Given the description of an element on the screen output the (x, y) to click on. 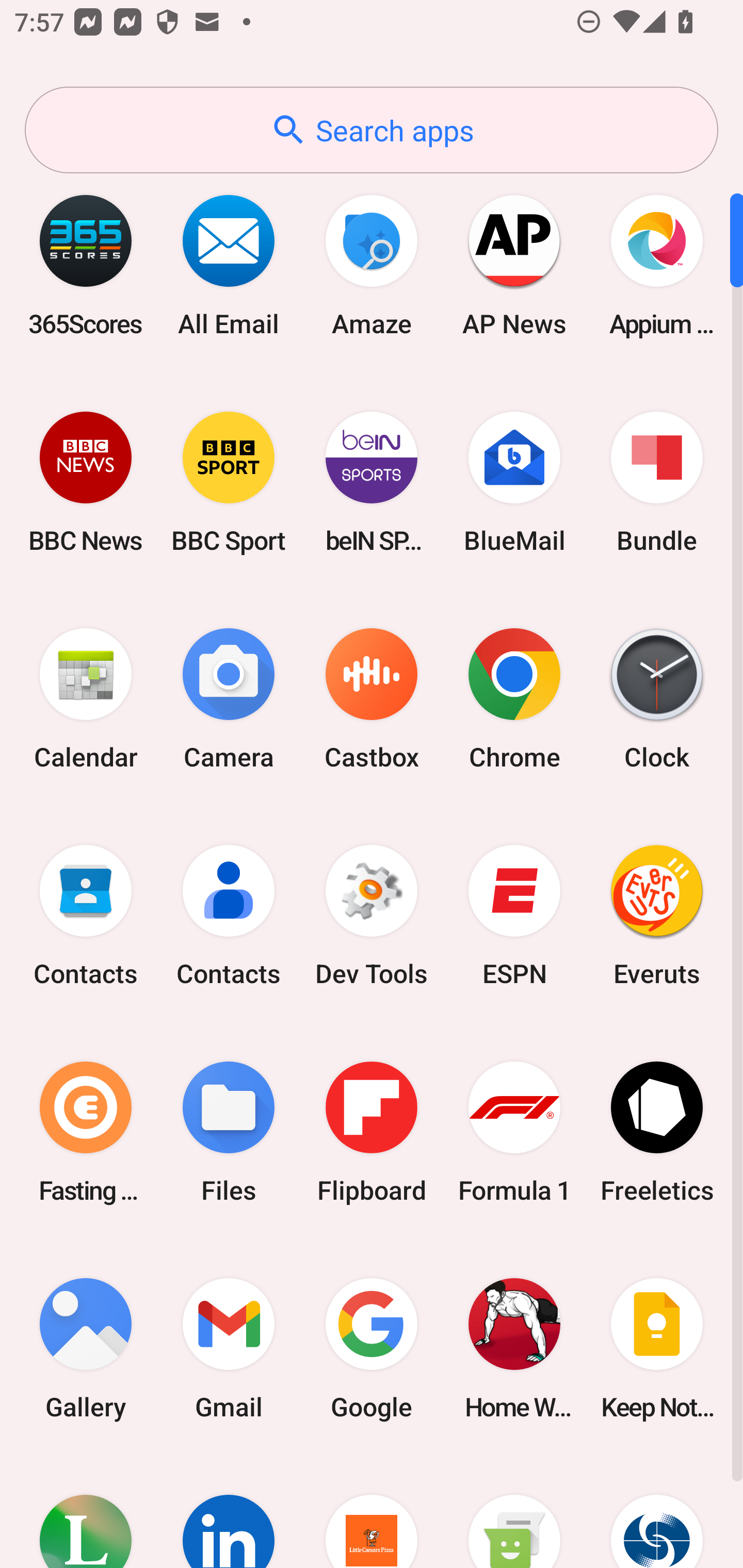
  Search apps (371, 130)
365Scores (85, 264)
All Email (228, 264)
Amaze (371, 264)
AP News (514, 264)
Appium Settings (656, 264)
BBC News (85, 482)
BBC Sport (228, 482)
beIN SPORTS (371, 482)
BlueMail (514, 482)
Bundle (656, 482)
Calendar (85, 699)
Camera (228, 699)
Castbox (371, 699)
Chrome (514, 699)
Clock (656, 699)
Contacts (85, 915)
Contacts (228, 915)
Dev Tools (371, 915)
ESPN (514, 915)
Everuts (656, 915)
Fasting Coach (85, 1131)
Files (228, 1131)
Flipboard (371, 1131)
Formula 1 (514, 1131)
Freeletics (656, 1131)
Gallery (85, 1348)
Gmail (228, 1348)
Google (371, 1348)
Home Workout (514, 1348)
Keep Notes (656, 1348)
